Given the description of an element on the screen output the (x, y) to click on. 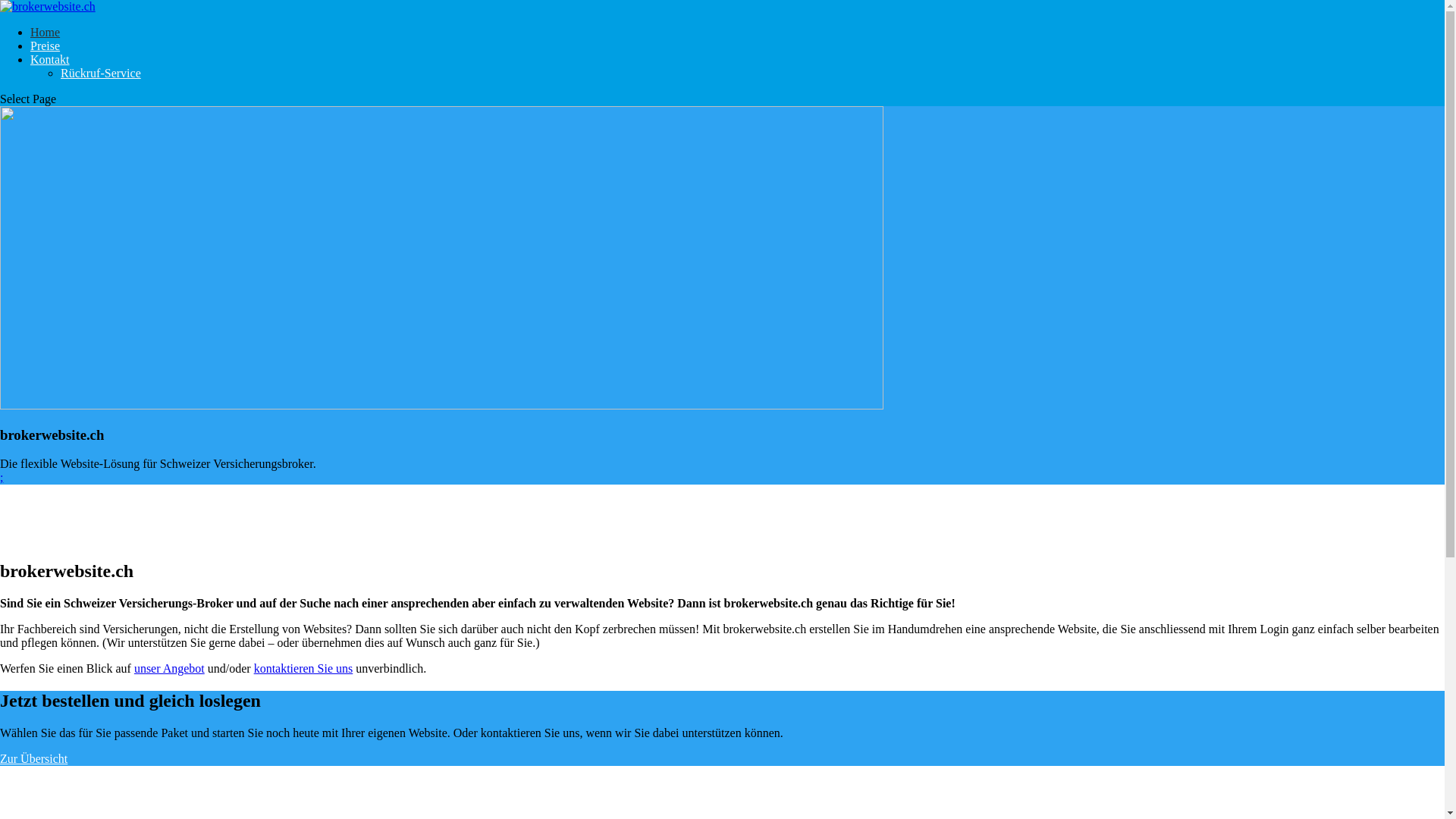
Preise Element type: text (44, 45)
kontaktieren Sie uns Element type: text (303, 668)
; Element type: text (1, 476)
unser Angebot Element type: text (169, 668)
Home Element type: text (44, 31)
Kontakt Element type: text (49, 59)
